Given the description of an element on the screen output the (x, y) to click on. 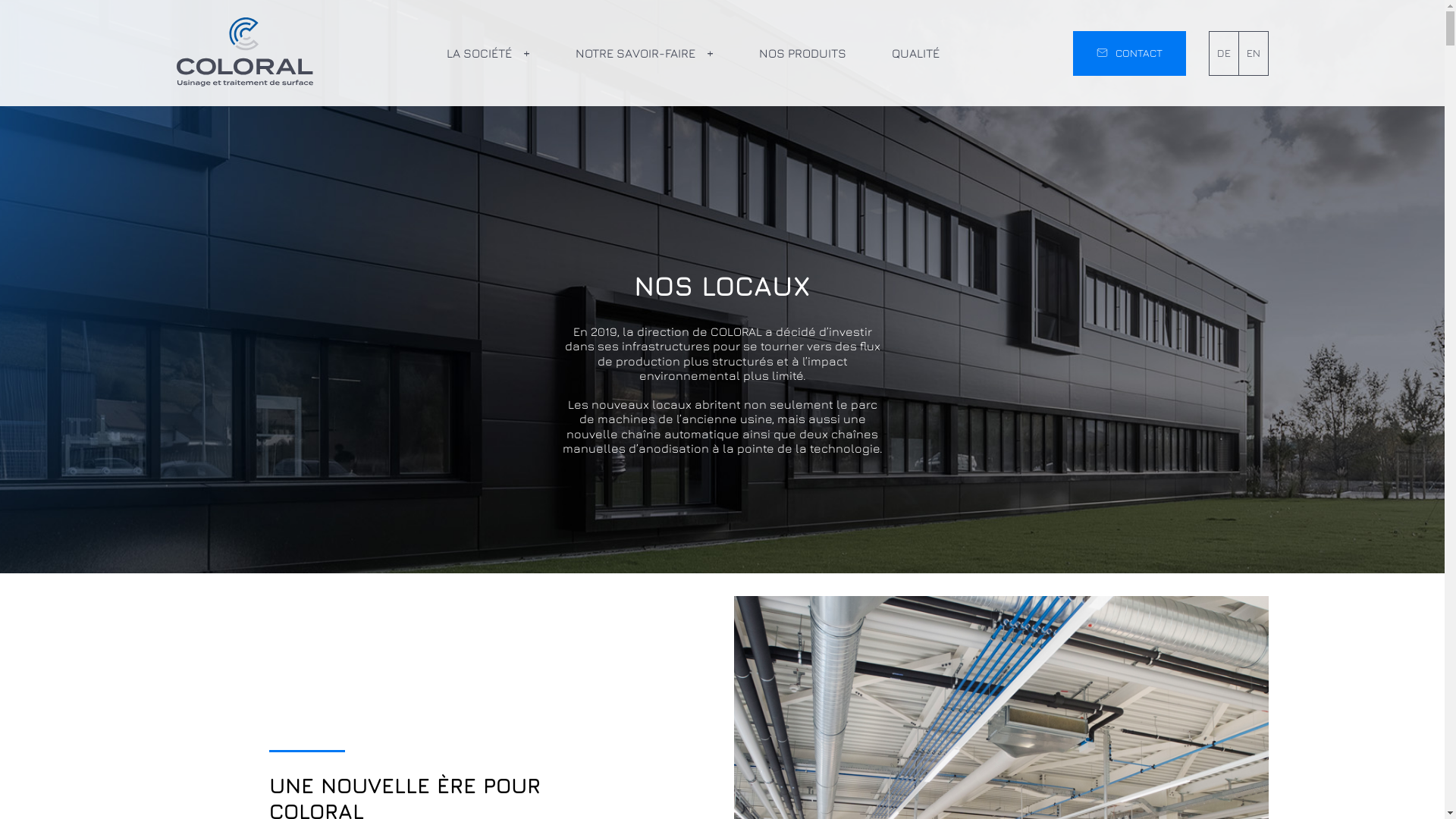
DE Element type: text (1223, 52)
EN Element type: text (1253, 52)
CONTACT Element type: text (1128, 53)
NOTRE SAVOIR-FAIRE Element type: text (643, 53)
NOS PRODUITS Element type: text (801, 53)
